Given the description of an element on the screen output the (x, y) to click on. 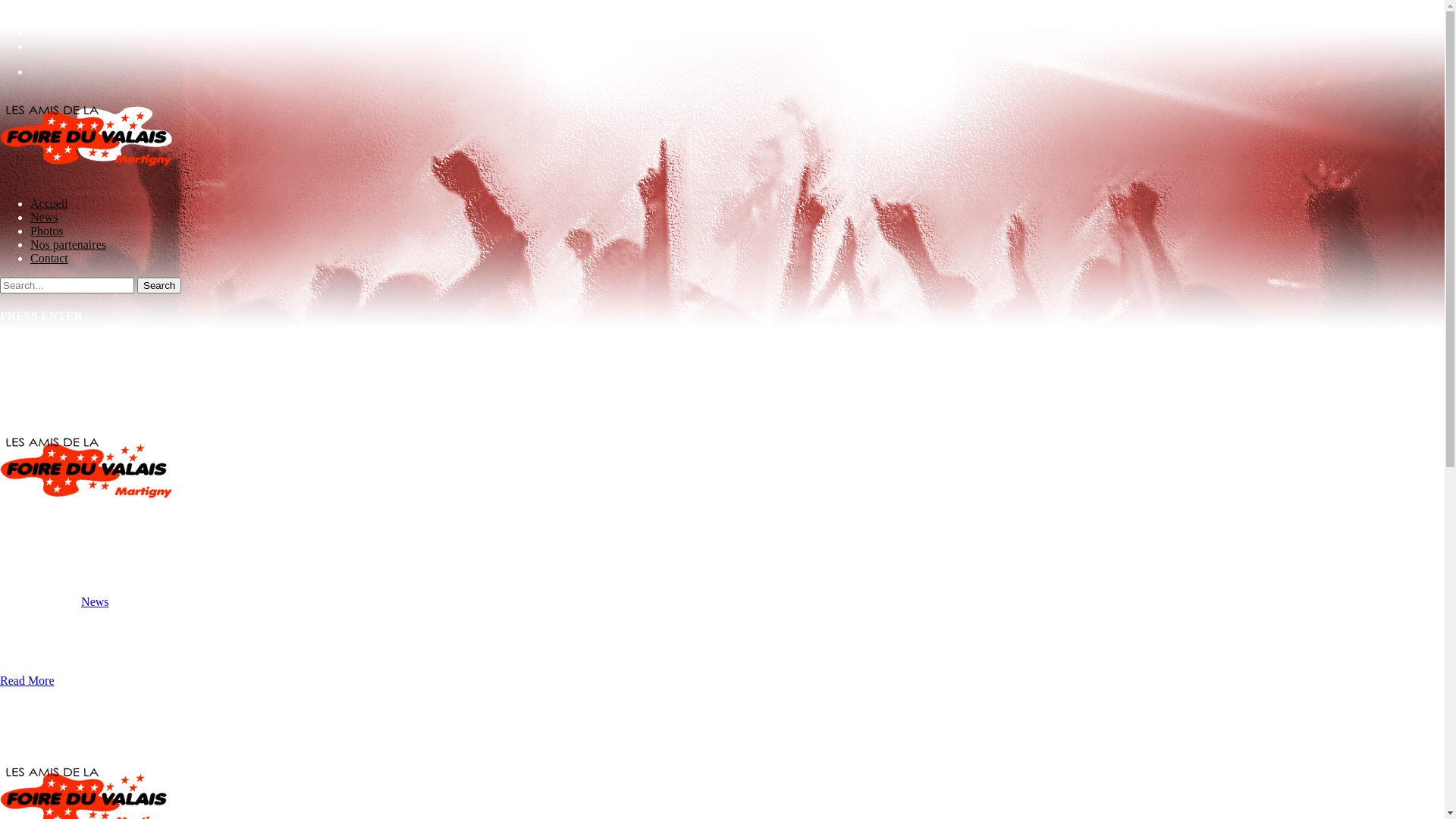
Read More Element type: text (27, 680)
Accueil Element type: text (49, 203)
Search Element type: text (159, 285)
News Element type: text (94, 601)
Nouveau Site internet : Element type: text (89, 555)
Nos partenaires Element type: text (68, 244)
Photos Element type: text (46, 230)
Contact Element type: text (49, 257)
News Element type: text (43, 216)
